Given the description of an element on the screen output the (x, y) to click on. 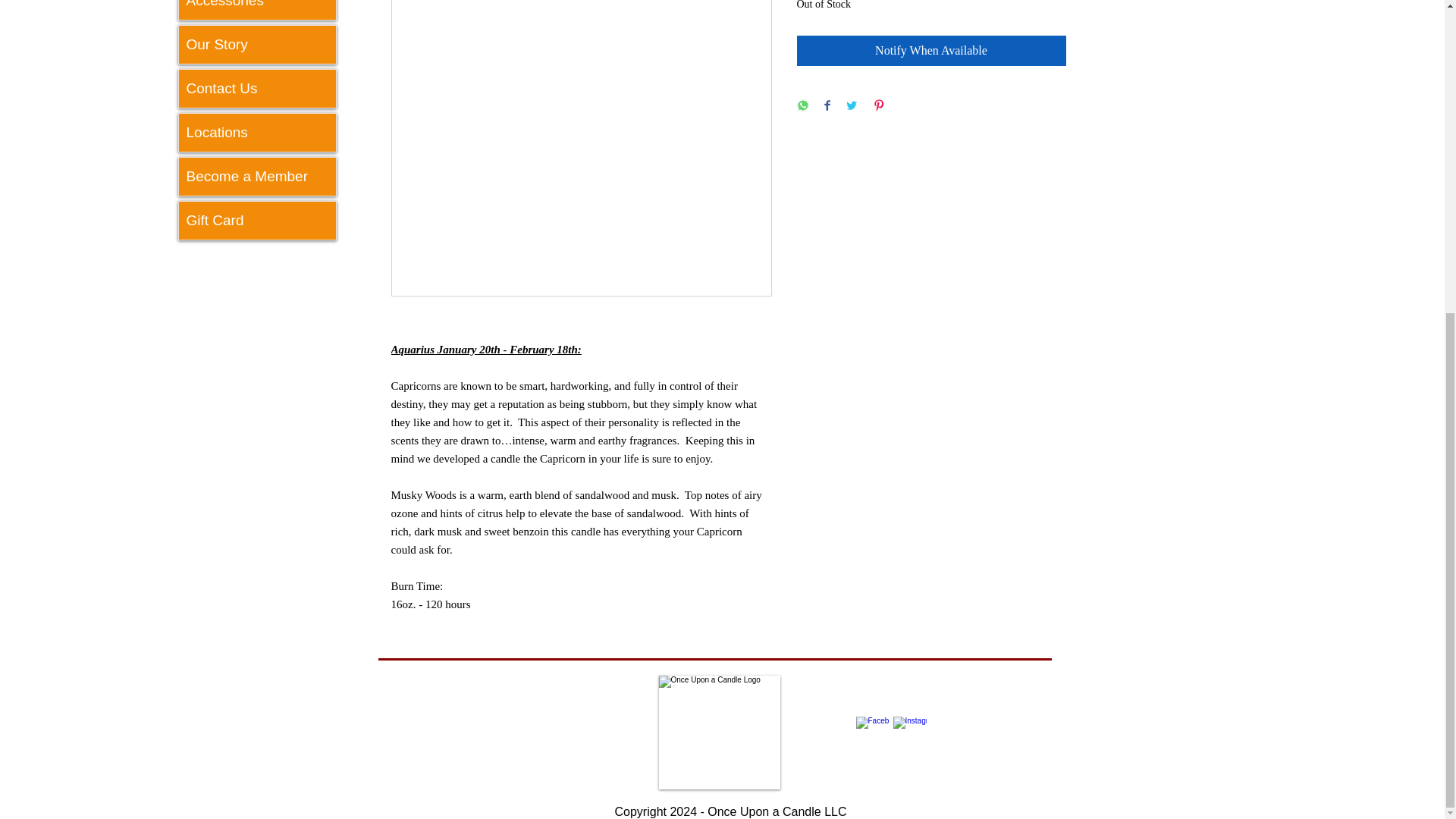
Contact Us (257, 88)
Become a Member (257, 176)
Notify When Available (930, 36)
Gift Card (257, 220)
Accessories (257, 9)
Our Story (257, 44)
Locations (257, 132)
